Given the description of an element on the screen output the (x, y) to click on. 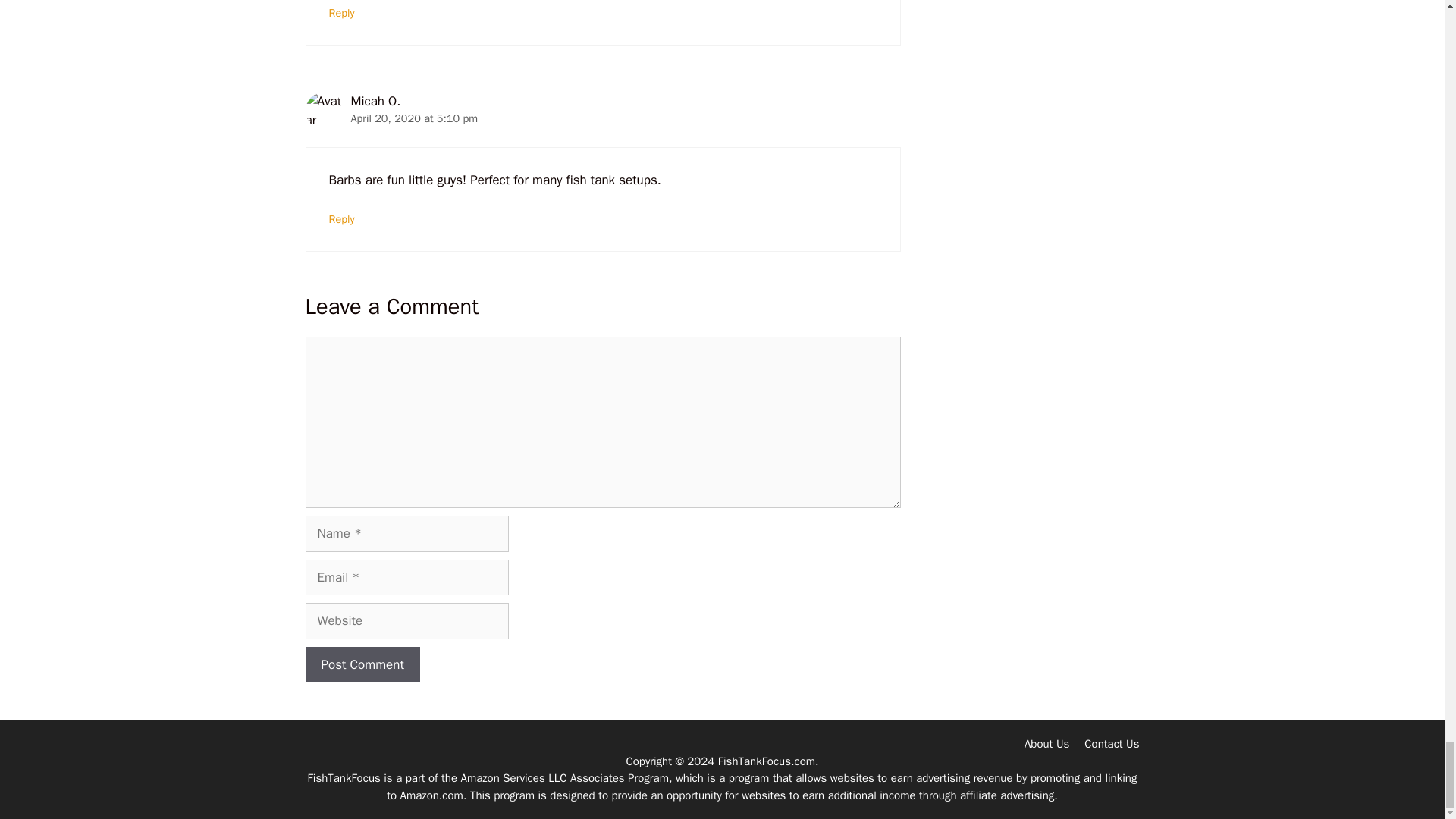
Post Comment (361, 665)
